Given the description of an element on the screen output the (x, y) to click on. 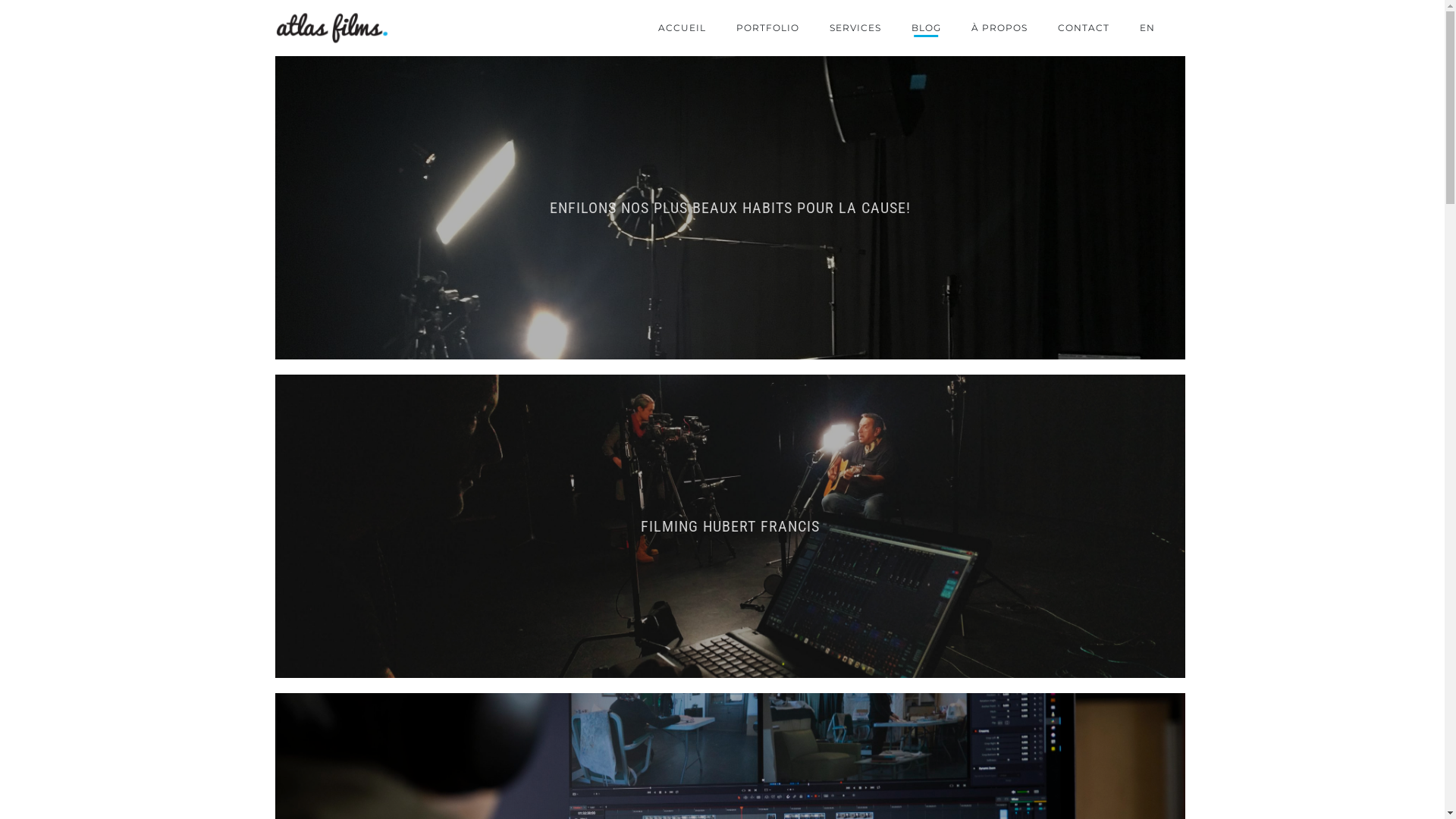
ACCUEIL Element type: text (682, 28)
SERVICES Element type: text (855, 28)
PORTFOLIO Element type: text (766, 28)
Atlas Films Inc Element type: hover (331, 28)
EN Element type: text (1146, 28)
CONTACT Element type: text (1082, 28)
BLOG Element type: text (926, 28)
